Given the description of an element on the screen output the (x, y) to click on. 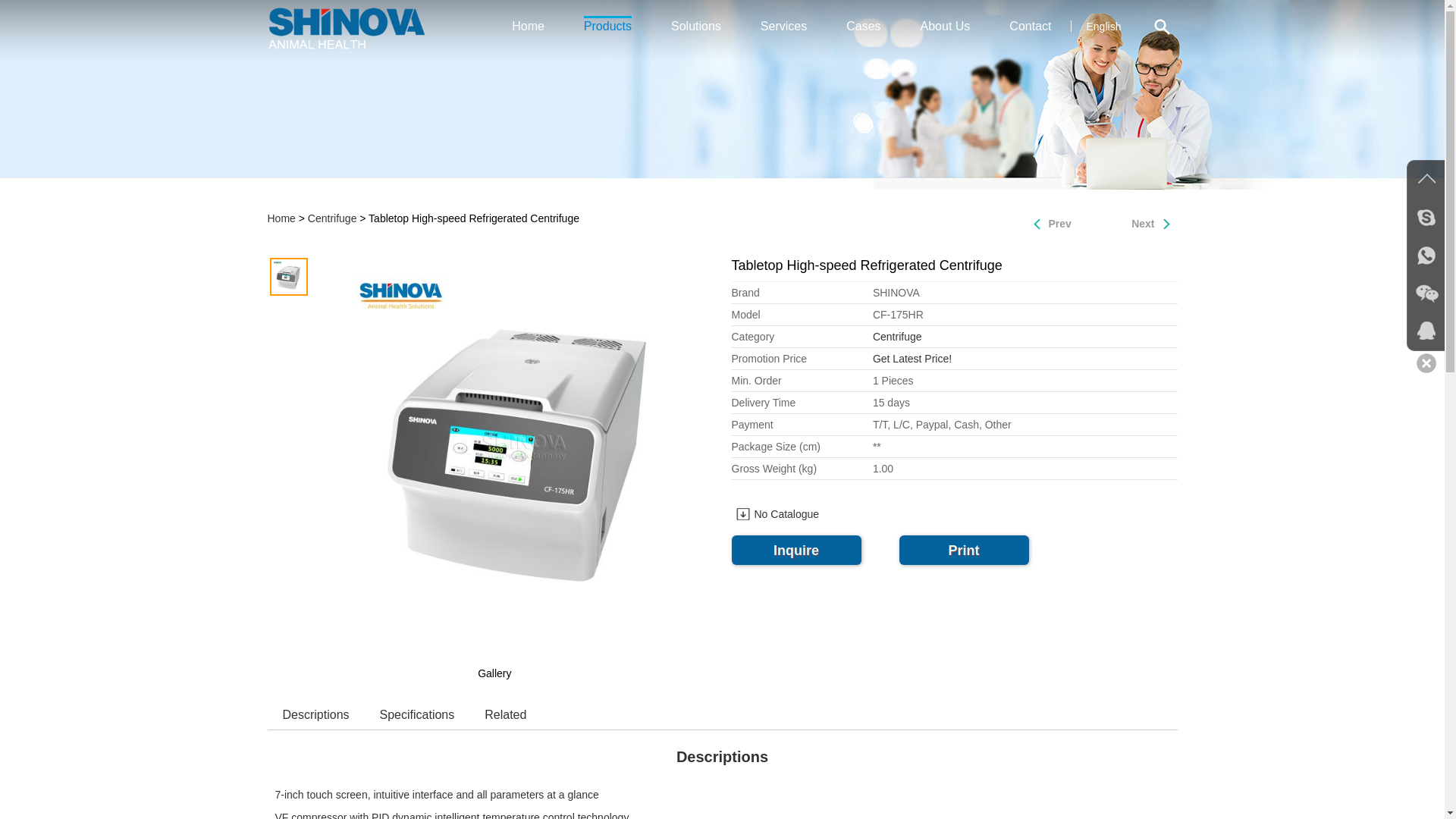
Home (280, 218)
Related (504, 714)
Centrifuge (331, 218)
Inquire (795, 550)
Print (964, 550)
Cases (862, 26)
Get Latest Price! (912, 358)
No Catalogue (774, 513)
Prev (1047, 223)
